Given the description of an element on the screen output the (x, y) to click on. 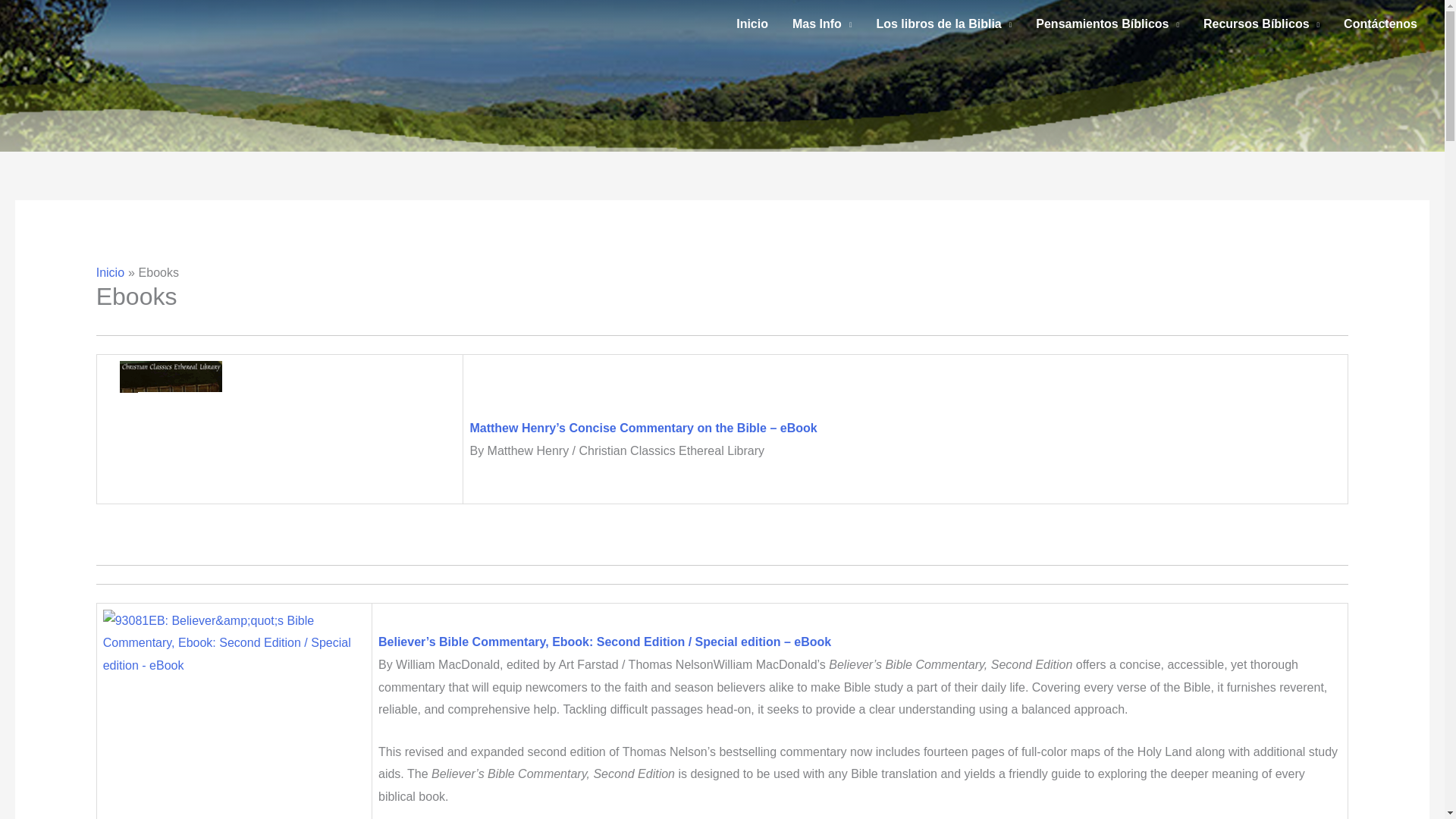
Inicio (109, 272)
Los libros de la Biblia (943, 24)
Mas Info (821, 24)
Inicio (751, 24)
